Given the description of an element on the screen output the (x, y) to click on. 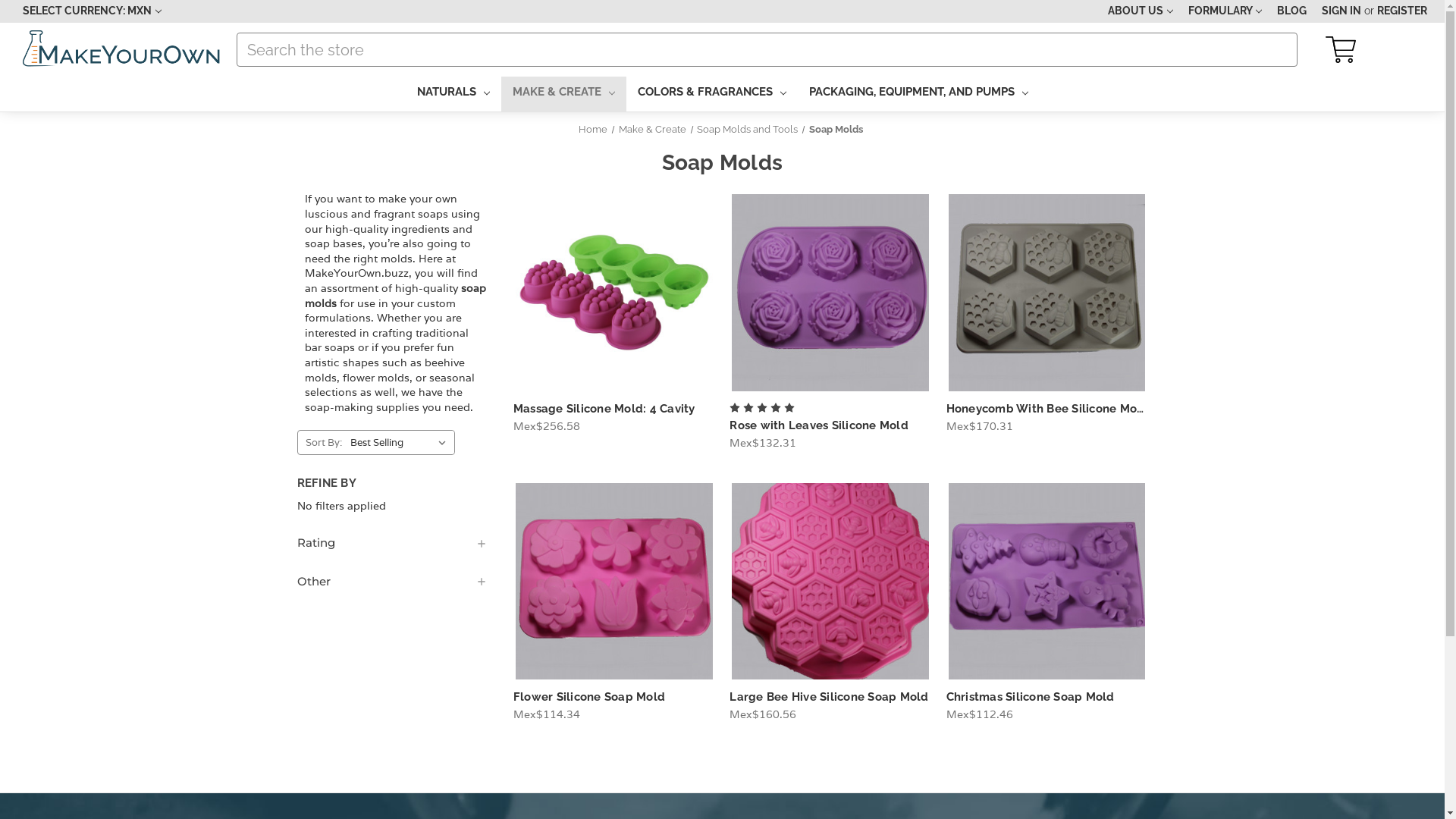
REGISTER Element type: text (1401, 11)
Rating Element type: text (392, 542)
Product rating is 5 of 5 Element type: hover (761, 407)
Massage Silicone Mold: 4 Cavity Element type: text (604, 408)
Bee and Honeycomb 6 Cavity Mold exterior Element type: hover (1046, 292)
Soap Molds and Tools Element type: text (746, 128)
Large Bee Hive Silicone Soap Mold Element type: text (828, 696)
Christmas Silicone Soap Mold Outside Element type: hover (1046, 581)
Large Bee Hive Silicone Soap Mold Outside Element type: hover (829, 581)
COLORS & FRAGRANCES Element type: text (711, 93)
Make & Create Element type: text (652, 128)
Flower Silicone Soap Mold Element type: text (589, 696)
SIGN IN Element type: text (1341, 11)
MAKE & CREATE Element type: text (562, 93)
Rose with Leaves Silicone Mold Element type: text (818, 425)
PACKAGING, EQUIPMENT, AND PUMPS Element type: text (918, 93)
Christmas Silicone Soap Mold Element type: text (1030, 696)
ABOUT US Element type: text (1140, 11)
NATURALS Element type: text (452, 93)
Flower Silicone Soap Mold Outside Element type: hover (613, 581)
SELECT CURRENCY: MXN Element type: text (92, 11)
Honeycomb With Bee Silicone Mold Element type: text (1047, 408)
Soap Molds Element type: text (835, 128)
FORMULARY Element type: text (1224, 11)
4 Cavity Silicone Massage Mold Element type: hover (613, 292)
Other Element type: text (392, 581)
Silicone Rose Mold exterior Element type: hover (829, 292)
BLOG Element type: text (1291, 11)
MakeYourOwn Element type: hover (121, 49)
Home Element type: text (592, 128)
